Given the description of an element on the screen output the (x, y) to click on. 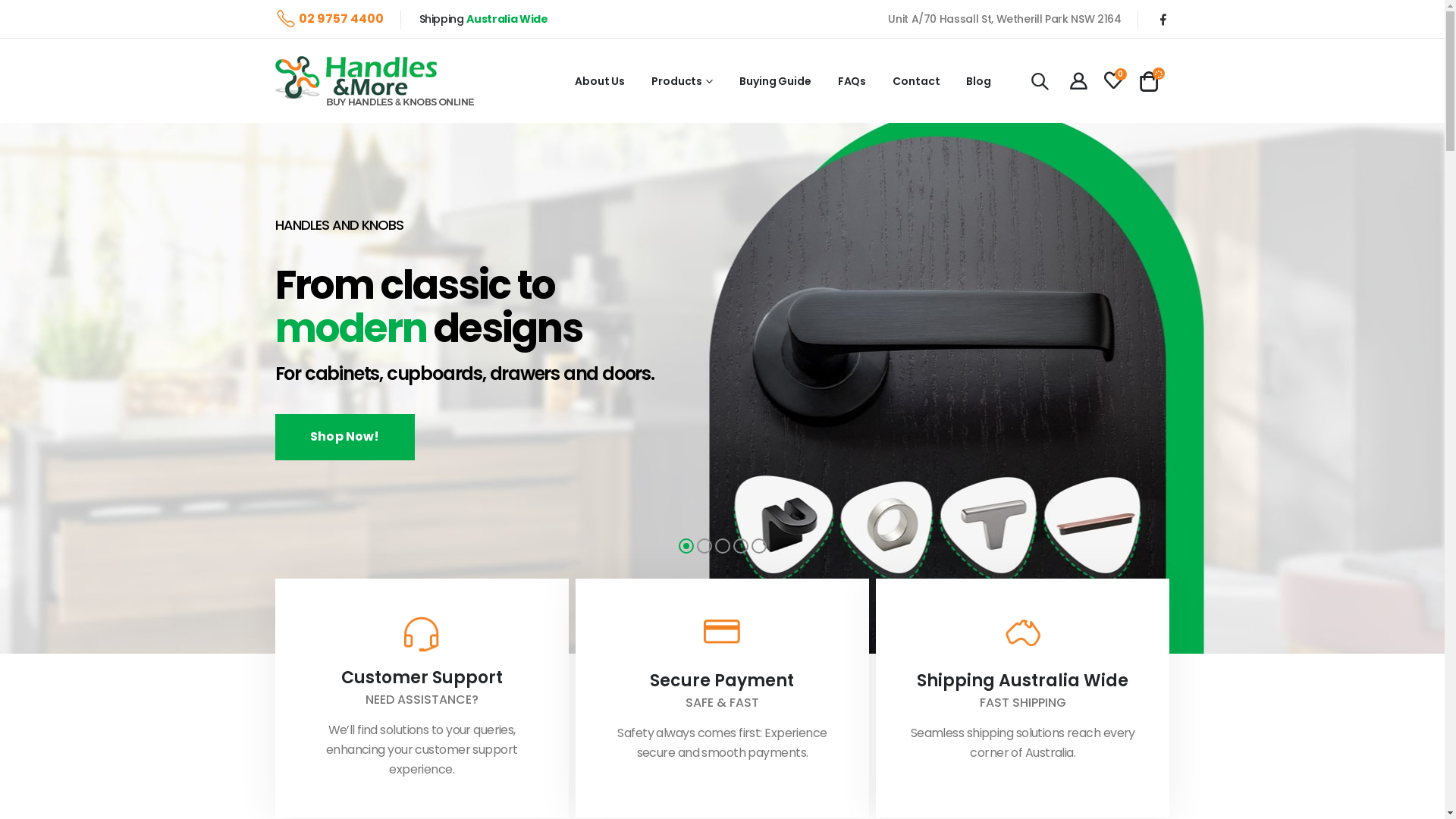
Shop Now! Element type: text (344, 437)
About Us Element type: text (599, 81)
02 9757 4400 Element type: text (329, 18)
FAQs Element type: text (852, 81)
My Account Element type: hover (1077, 81)
Unit A/70 Hassall St, Wetherill Park NSW 2164 Element type: text (1004, 18)
Buying Guide Element type: text (775, 81)
Contact Element type: text (915, 81)
Products Element type: text (681, 81)
Handles and more -  Element type: hover (373, 80)
Blog Element type: text (978, 81)
Facebook Element type: hover (1162, 18)
0 Element type: text (1112, 81)
